Given the description of an element on the screen output the (x, y) to click on. 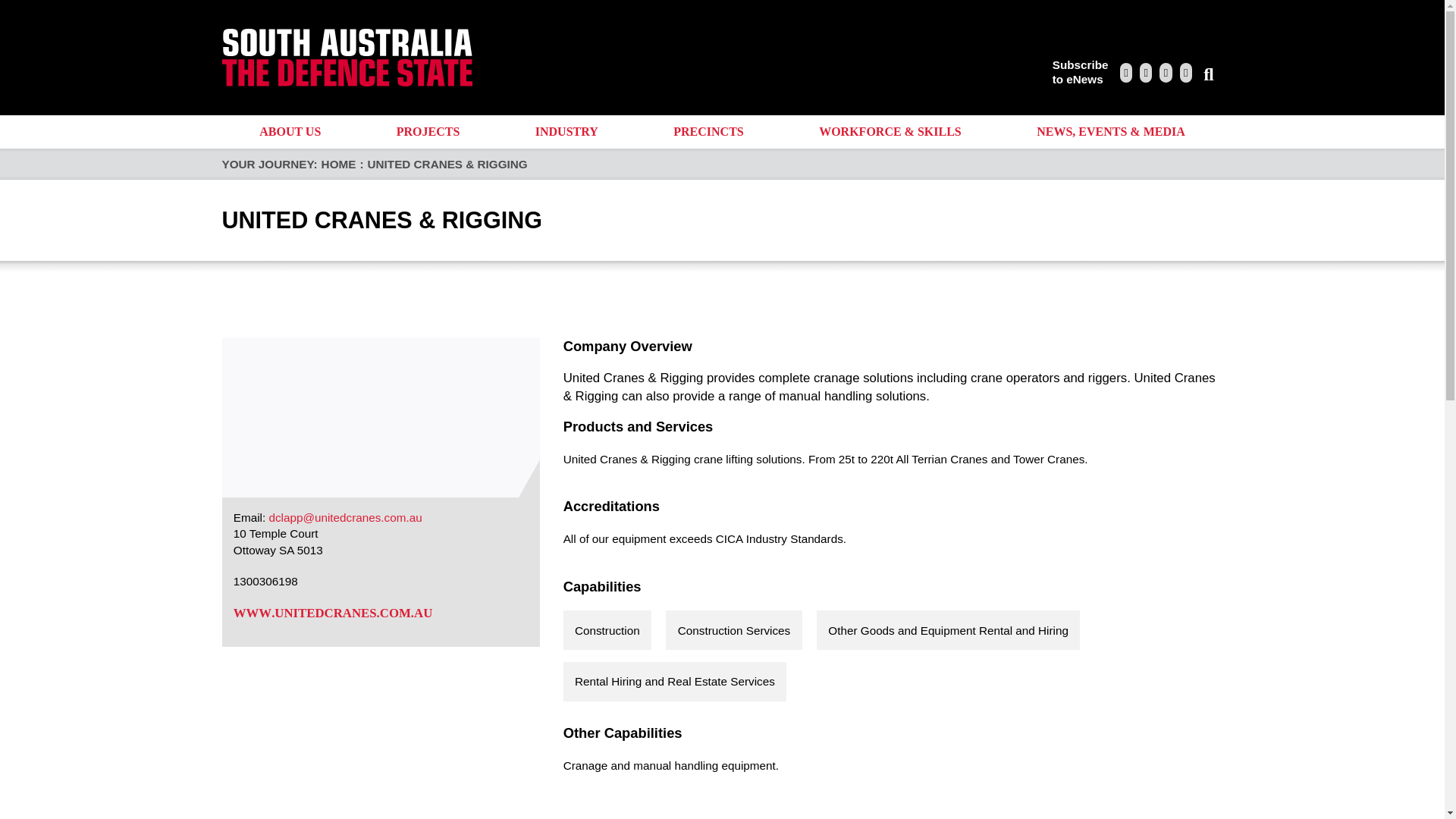
PROJECTS (427, 131)
PRECINCTS (708, 131)
INDUSTRY (565, 131)
ABOUT US (1080, 72)
